Given the description of an element on the screen output the (x, y) to click on. 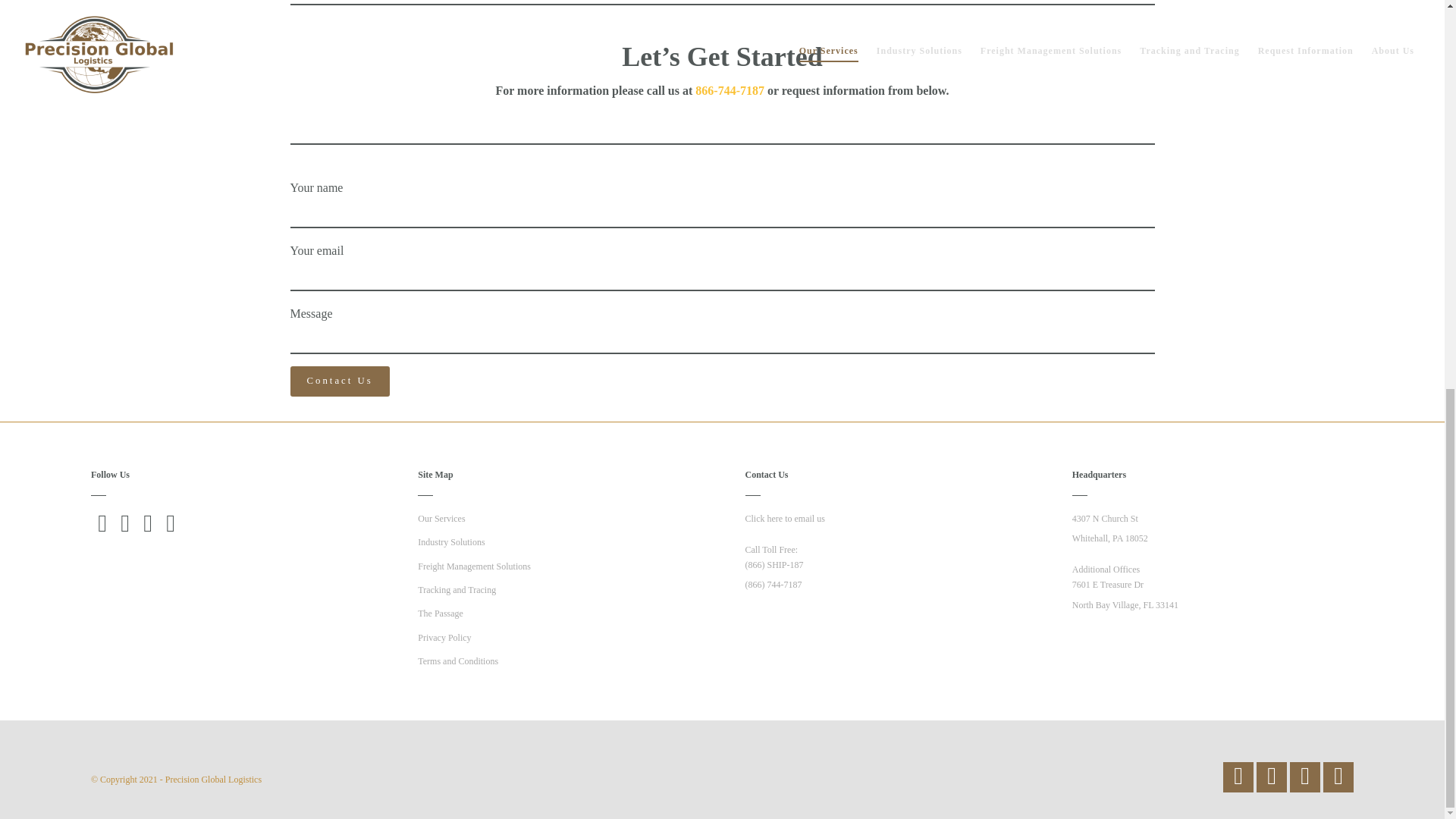
instagram (1271, 778)
866-744-7187 (729, 90)
twitter (1338, 778)
Our Services (440, 519)
Contact Us (338, 381)
Contact Us (338, 381)
facebook (1238, 778)
linkedin (1305, 778)
